Given the description of an element on the screen output the (x, y) to click on. 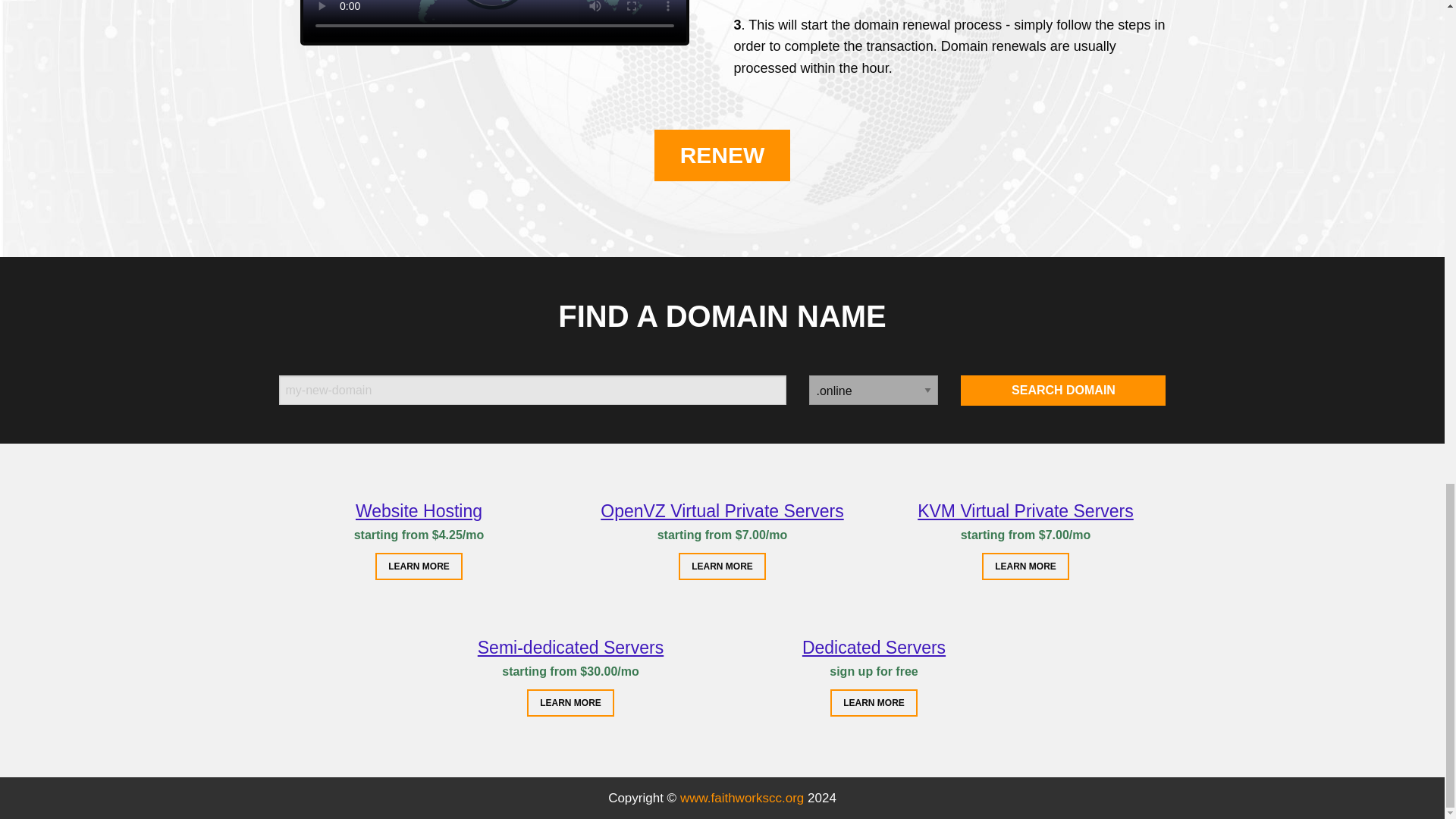
LEARN MORE (570, 702)
SEARCH DOMAIN (1063, 390)
LEARN MORE (873, 702)
OpenVZ Virtual Private Servers (721, 510)
Dedicated Servers (873, 647)
KVM Virtual Private Servers (1025, 510)
Semi-dedicated Servers (570, 647)
Learn more (419, 565)
Learn more (570, 702)
LEARN MORE (419, 565)
